Given the description of an element on the screen output the (x, y) to click on. 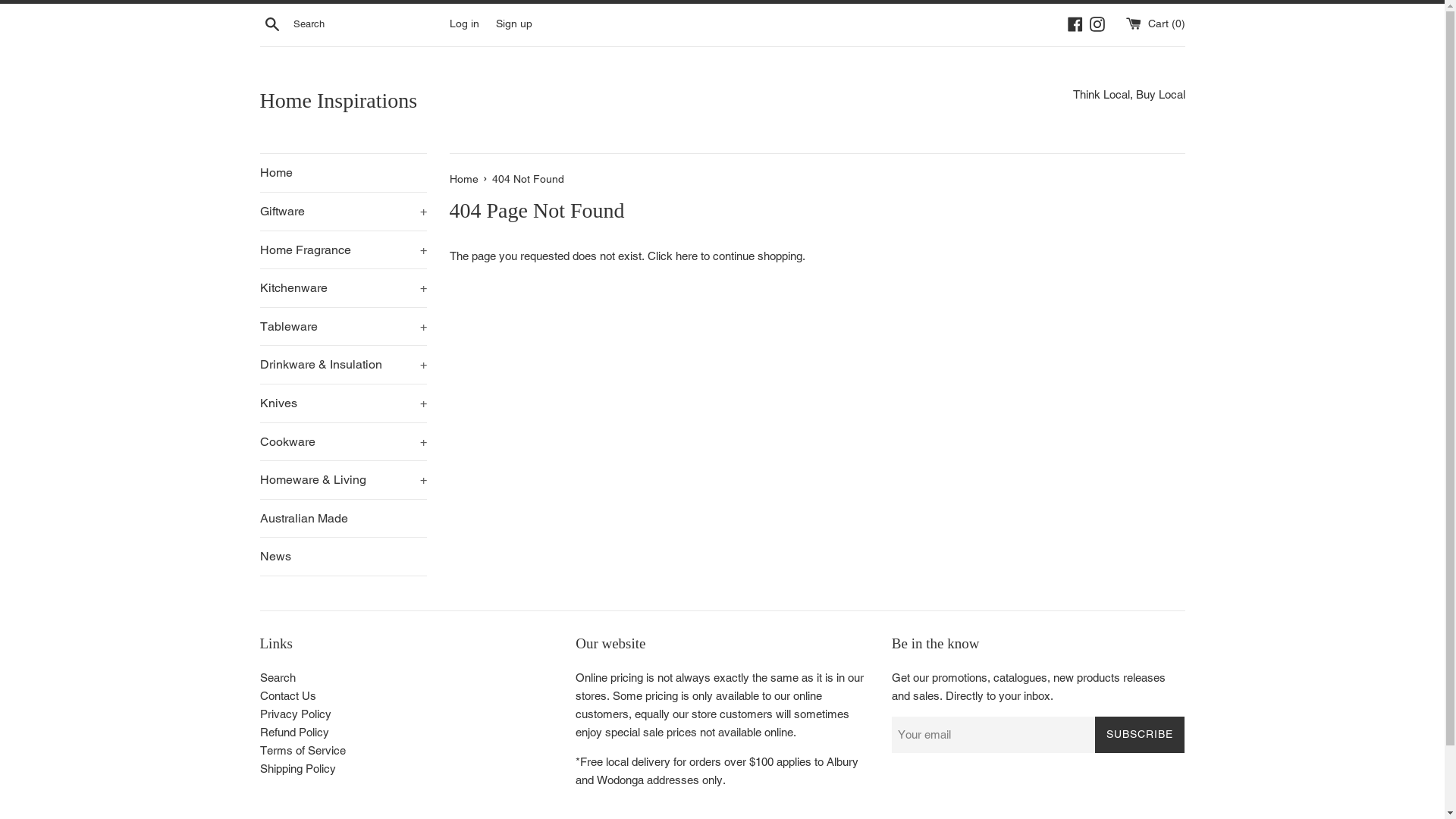
SUBSCRIBE Element type: text (1139, 734)
Facebook Element type: text (1074, 22)
Homeware & Living
+ Element type: text (342, 479)
Knives
+ Element type: text (342, 403)
News Element type: text (342, 556)
Giftware
+ Element type: text (342, 211)
Home Inspirations Element type: text (490, 100)
Sign up Element type: text (513, 22)
Cart (0) Element type: text (1154, 22)
Home Element type: text (464, 178)
Log in Element type: text (463, 22)
Home Element type: text (342, 172)
Refund Policy Element type: text (293, 731)
Drinkware & Insulation
+ Element type: text (342, 364)
Tableware
+ Element type: text (342, 326)
Terms of Service Element type: text (302, 749)
Privacy Policy Element type: text (294, 713)
Contact Us Element type: text (287, 695)
here Element type: text (685, 255)
Shipping Policy Element type: text (297, 768)
Australian Made Element type: text (342, 518)
Kitchenware
+ Element type: text (342, 288)
Search Element type: text (271, 23)
Instagram Element type: text (1096, 22)
Cookware
+ Element type: text (342, 442)
Search Element type: text (276, 677)
Home Fragrance
+ Element type: text (342, 250)
